Given the description of an element on the screen output the (x, y) to click on. 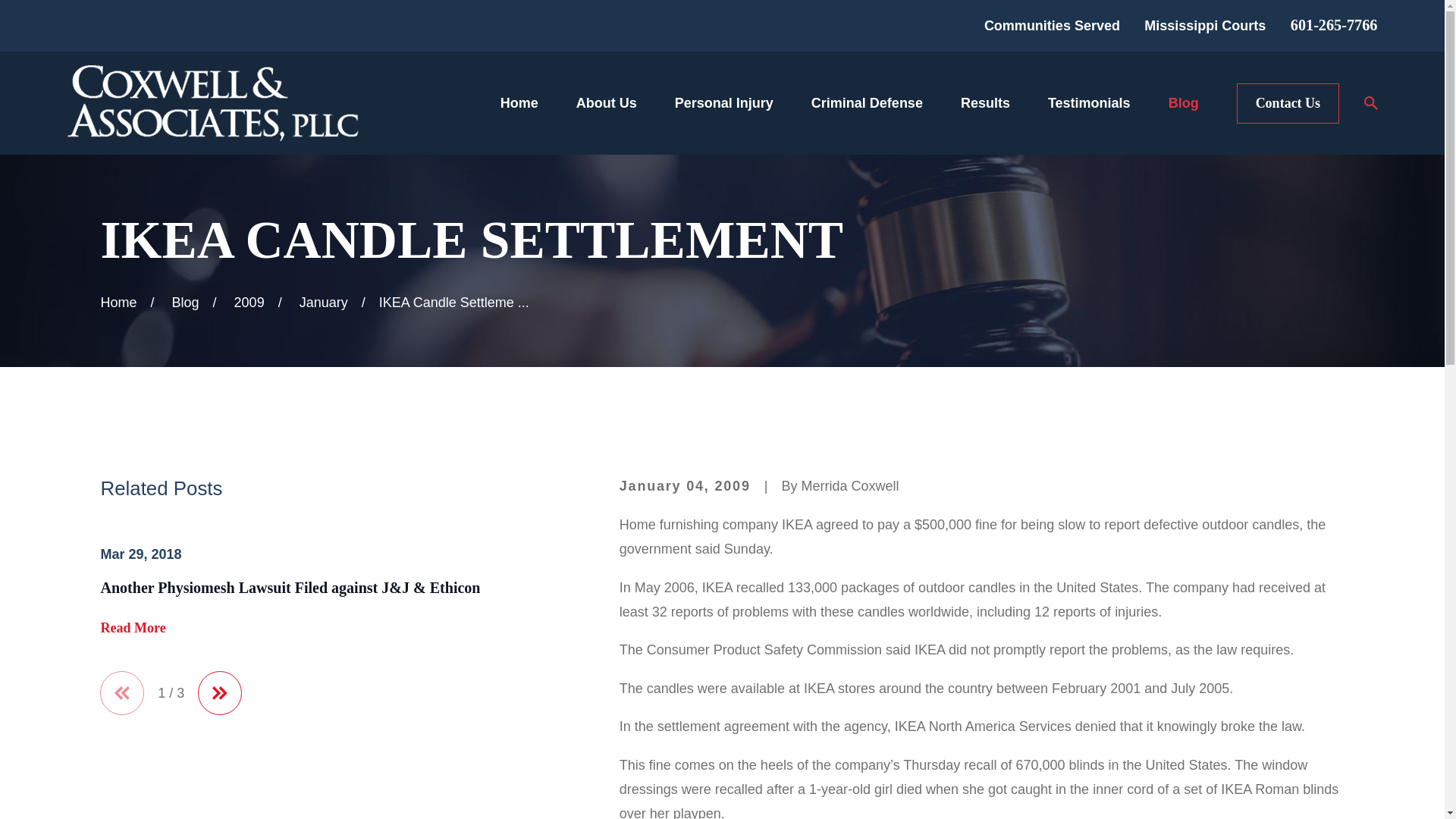
Home (212, 102)
Personal Injury (724, 102)
About Us (606, 102)
Mississippi Courts (1204, 25)
Go Home (118, 302)
View next item (219, 692)
Communities Served (1051, 25)
View previous item (122, 692)
601-265-7766 (1333, 24)
